Given the description of an element on the screen output the (x, y) to click on. 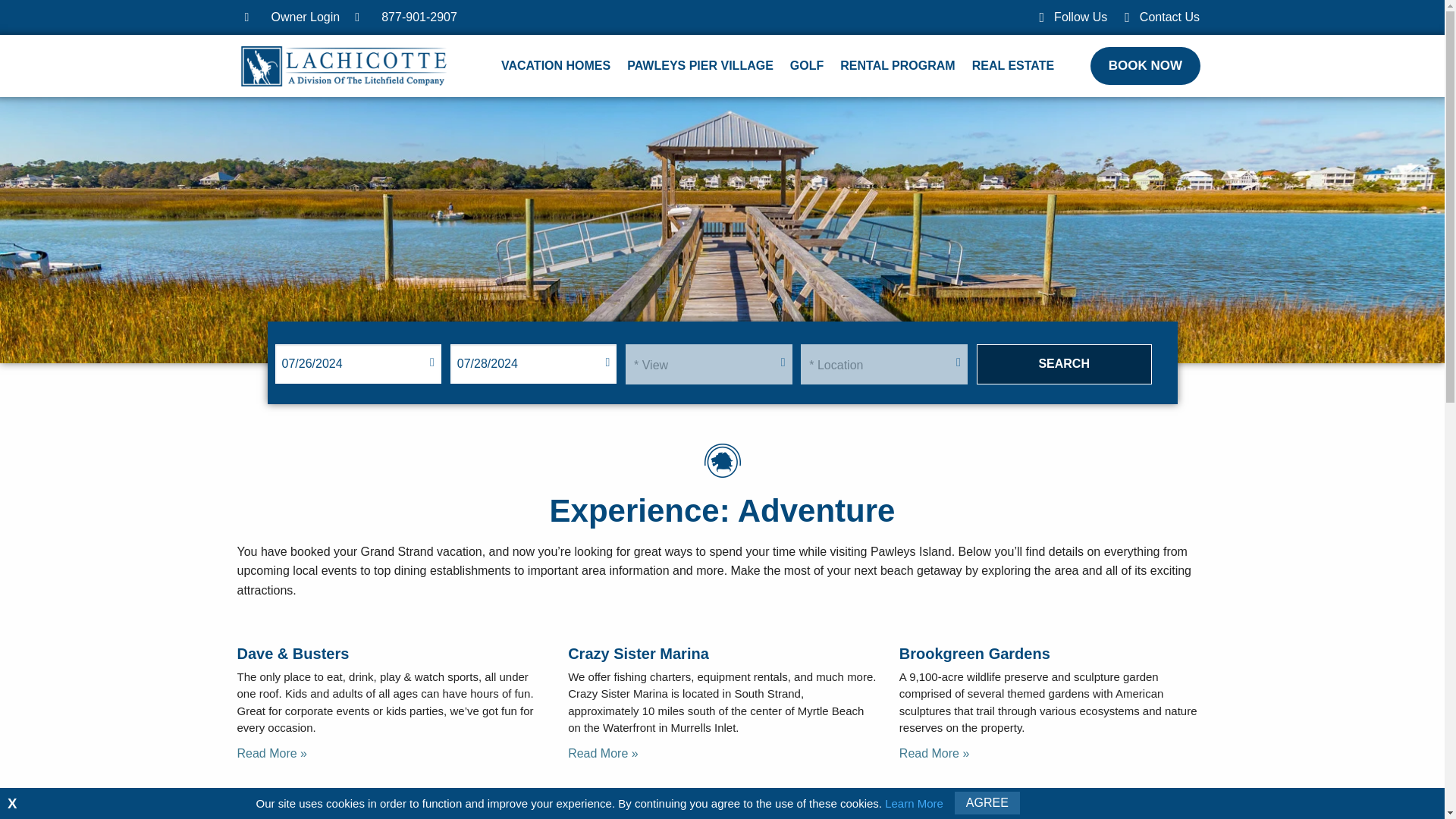
PAWLEYS PIER VILLAGE (700, 65)
SEARCH (1063, 363)
Brookgreen Gardens (974, 653)
Owner Login (291, 17)
House of Blues (954, 799)
Follow Us (1070, 17)
Crazy Sister Marina (638, 653)
SEARCH (1063, 363)
RENTAL PROGRAM (897, 65)
BOOK NOW (1144, 65)
Medieval Times (623, 799)
VACATION HOMES (555, 65)
Contact Us (1158, 17)
REAL ESTATE (1013, 65)
GOLF (807, 65)
